Given the description of an element on the screen output the (x, y) to click on. 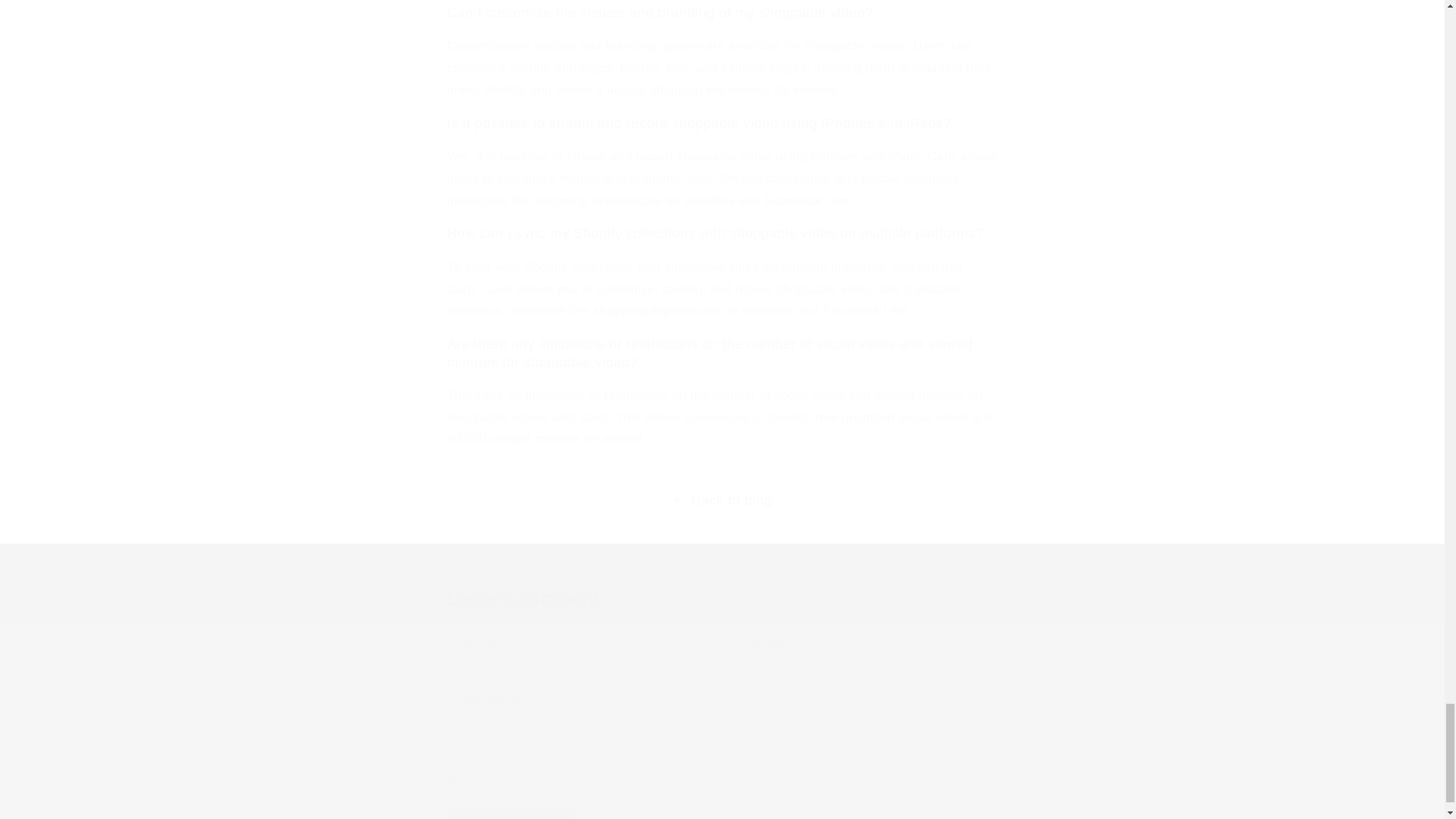
Post comment (510, 814)
Post comment (510, 814)
